Given the description of an element on the screen output the (x, y) to click on. 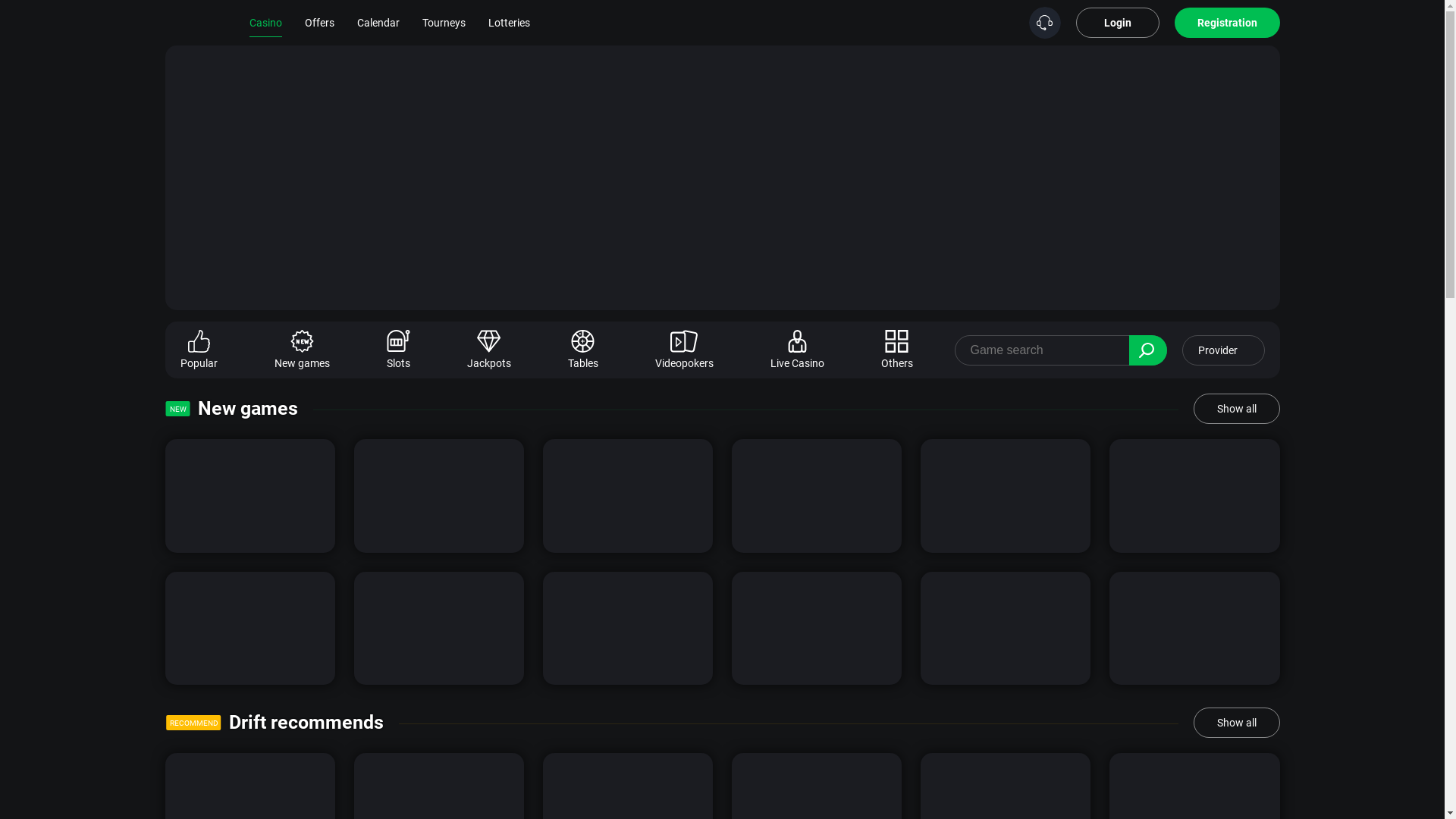
Jackpots Element type: text (489, 349)
Others Element type: text (897, 349)
Slots Element type: text (398, 349)
New games Element type: text (301, 349)
Tourneys Element type: text (442, 22)
Popular Element type: text (198, 349)
Tables Element type: text (582, 349)
Lotteries Element type: text (509, 22)
Drift recommends Element type: text (306, 722)
Login Element type: text (1116, 22)
Show all Element type: text (1236, 408)
Show all Element type: text (1236, 722)
Offers Element type: text (319, 22)
Casino Element type: text (264, 22)
New games Element type: text (247, 408)
Registration Element type: text (1226, 22)
Videopokers Element type: text (684, 349)
Live Casino Element type: text (797, 349)
Calendar Element type: text (377, 22)
